Given the description of an element on the screen output the (x, y) to click on. 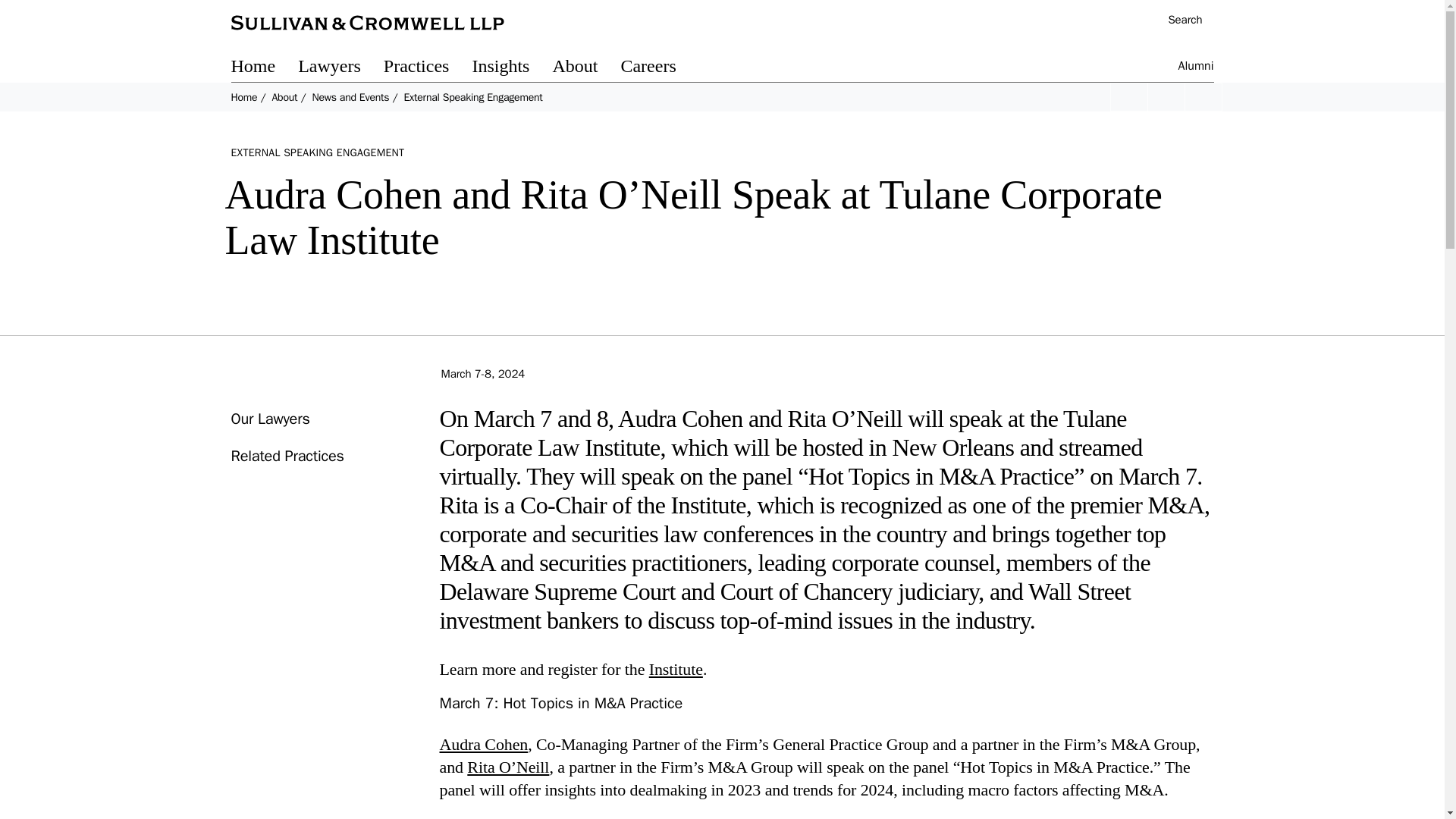
Lawyers (341, 67)
Related Practices (286, 456)
About (585, 67)
Institute (676, 669)
Search (1176, 20)
Alumni (1195, 67)
Home (264, 67)
Home (243, 97)
Careers (659, 67)
Audra Cohen (483, 743)
About (283, 97)
Insights (511, 67)
Our Lawyers (269, 418)
Practices (427, 67)
News and Events (349, 97)
